Given the description of an element on the screen output the (x, y) to click on. 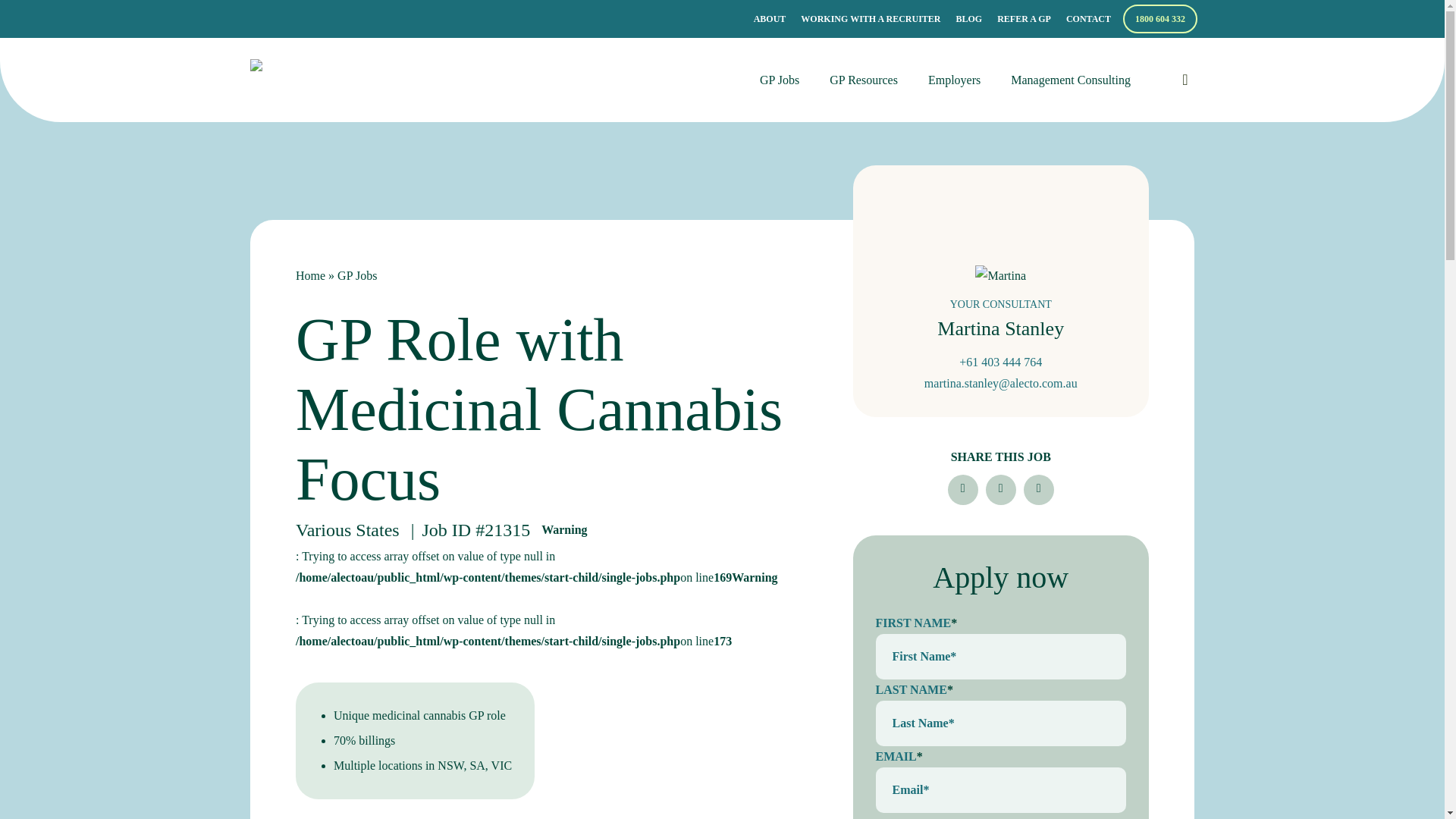
GP Jobs (778, 80)
BLOG (968, 18)
REFER A GP (1024, 18)
ABOUT (770, 18)
GP Resources (862, 80)
WORKING WITH A RECRUITER (870, 18)
CONTACT (1087, 18)
1800 604 332 (1159, 18)
